Given the description of an element on the screen output the (x, y) to click on. 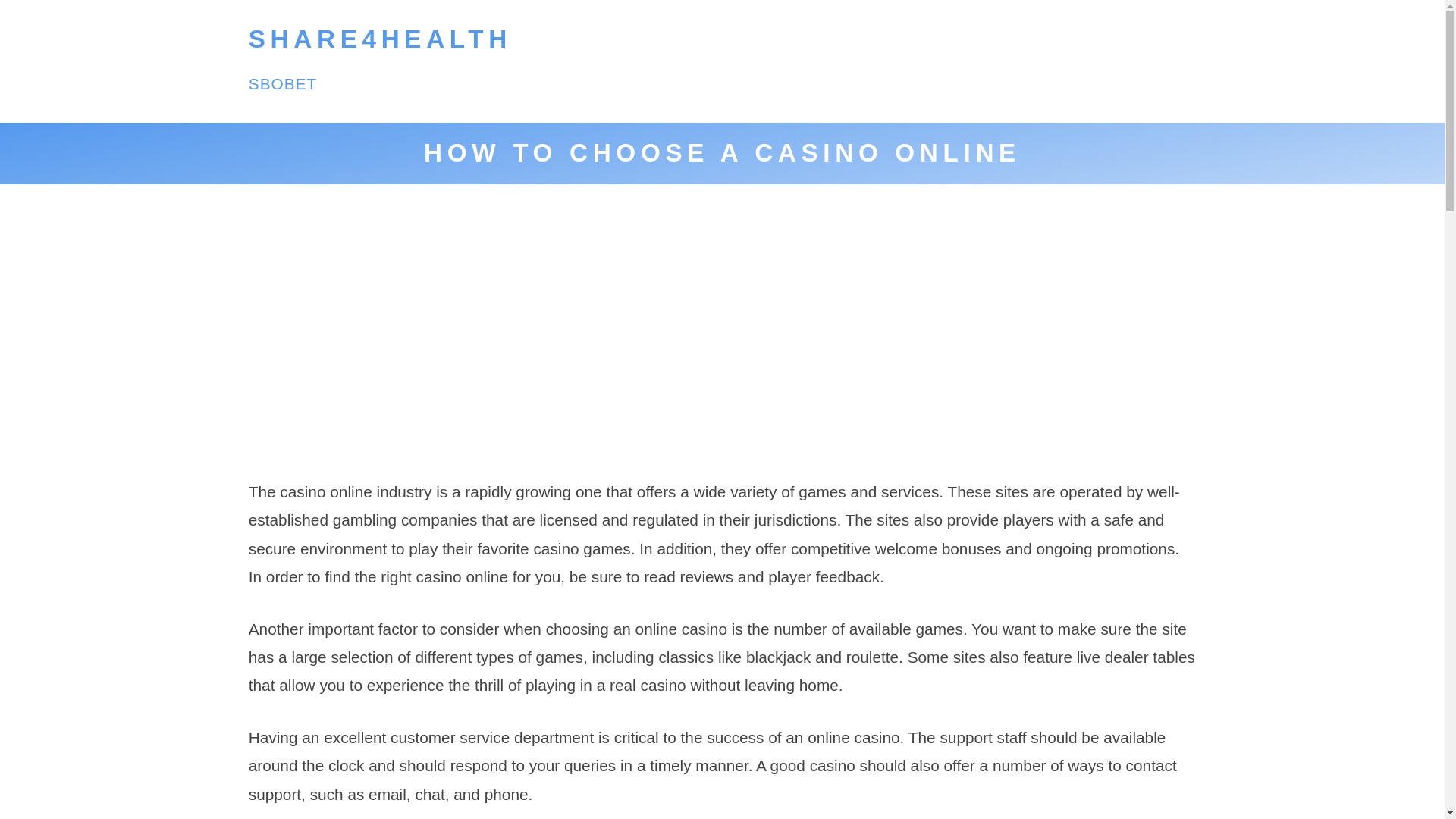
SBOBET (282, 83)
SHARE4HEALTH (380, 39)
